Given the description of an element on the screen output the (x, y) to click on. 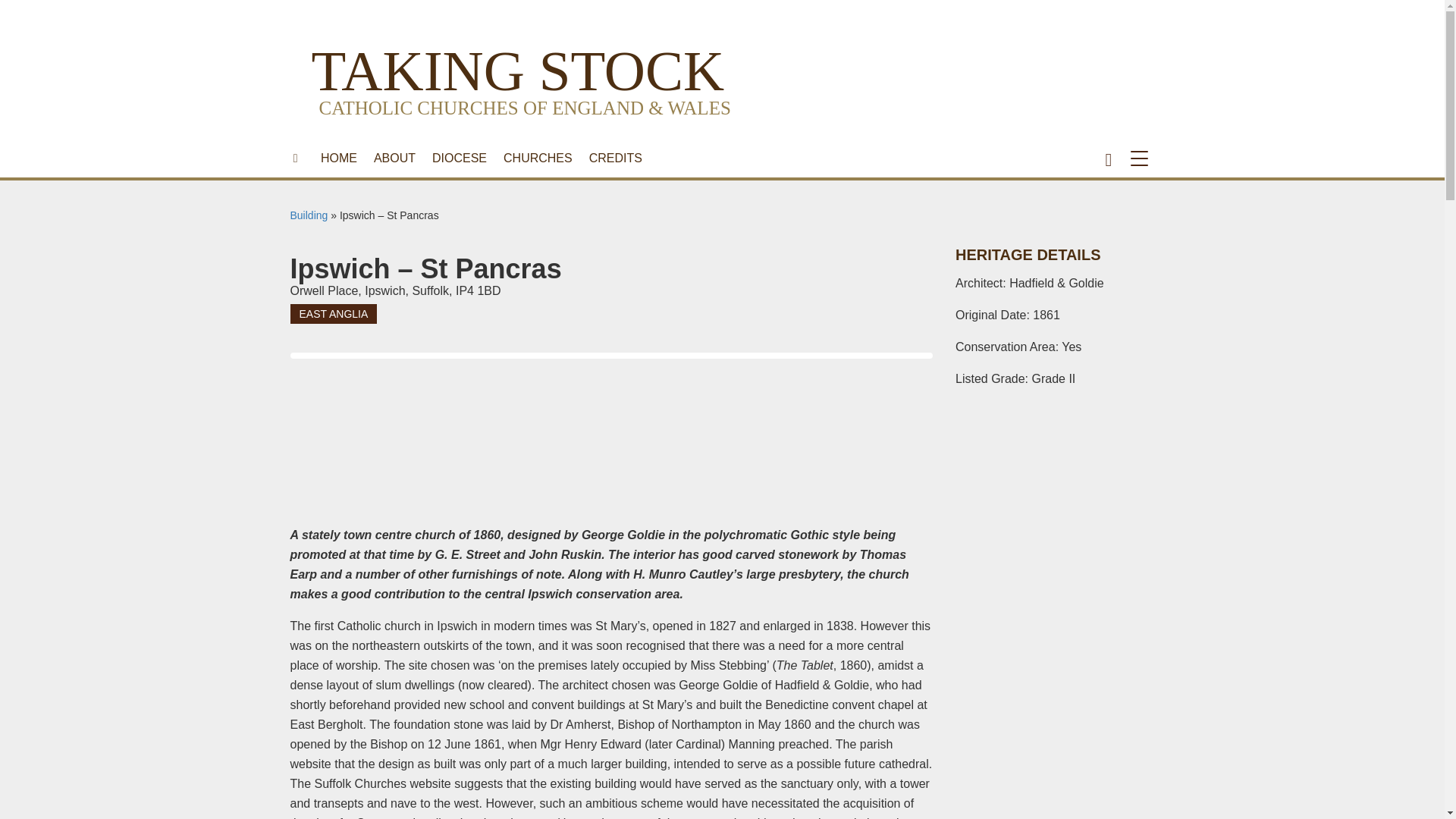
EAST ANGLIA (333, 313)
Building (308, 215)
ABOUT (394, 158)
HOME (339, 158)
TOGGLE NAVIGATION (1142, 157)
CHURCHES (537, 158)
CREDITS (615, 158)
DIOCESE (459, 158)
